Given the description of an element on the screen output the (x, y) to click on. 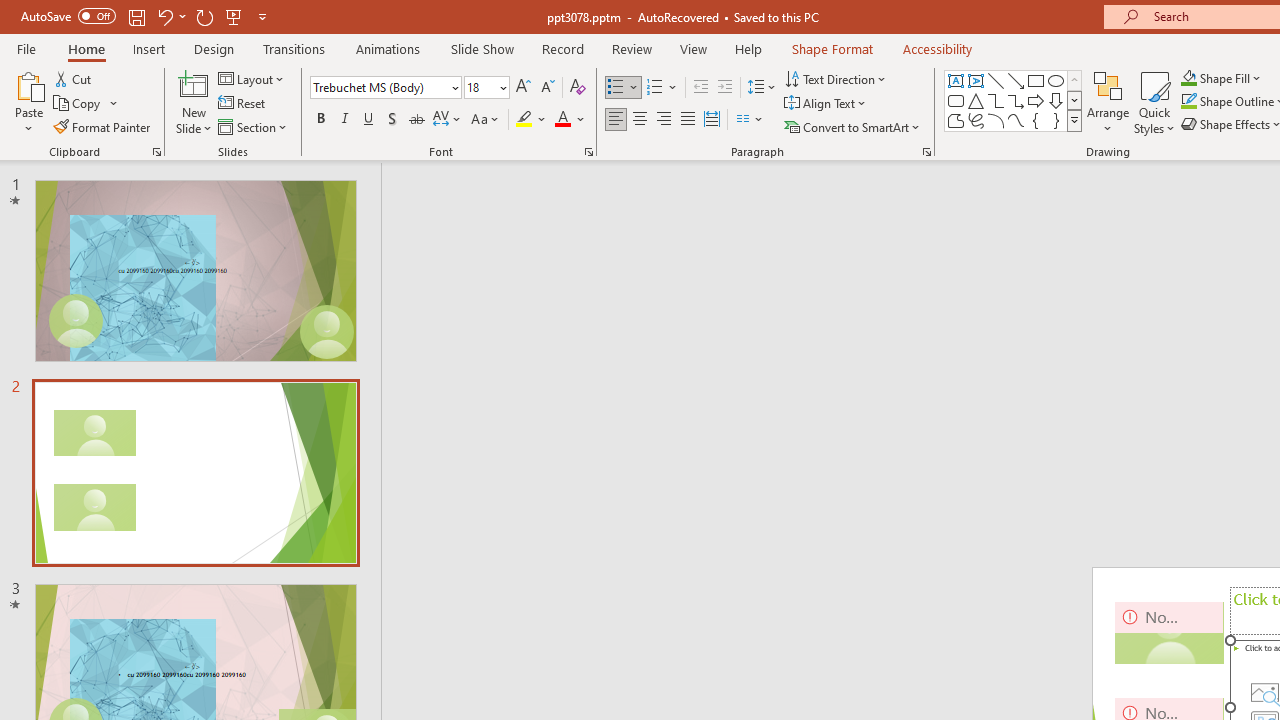
Shape Format (832, 48)
